Given the description of an element on the screen output the (x, y) to click on. 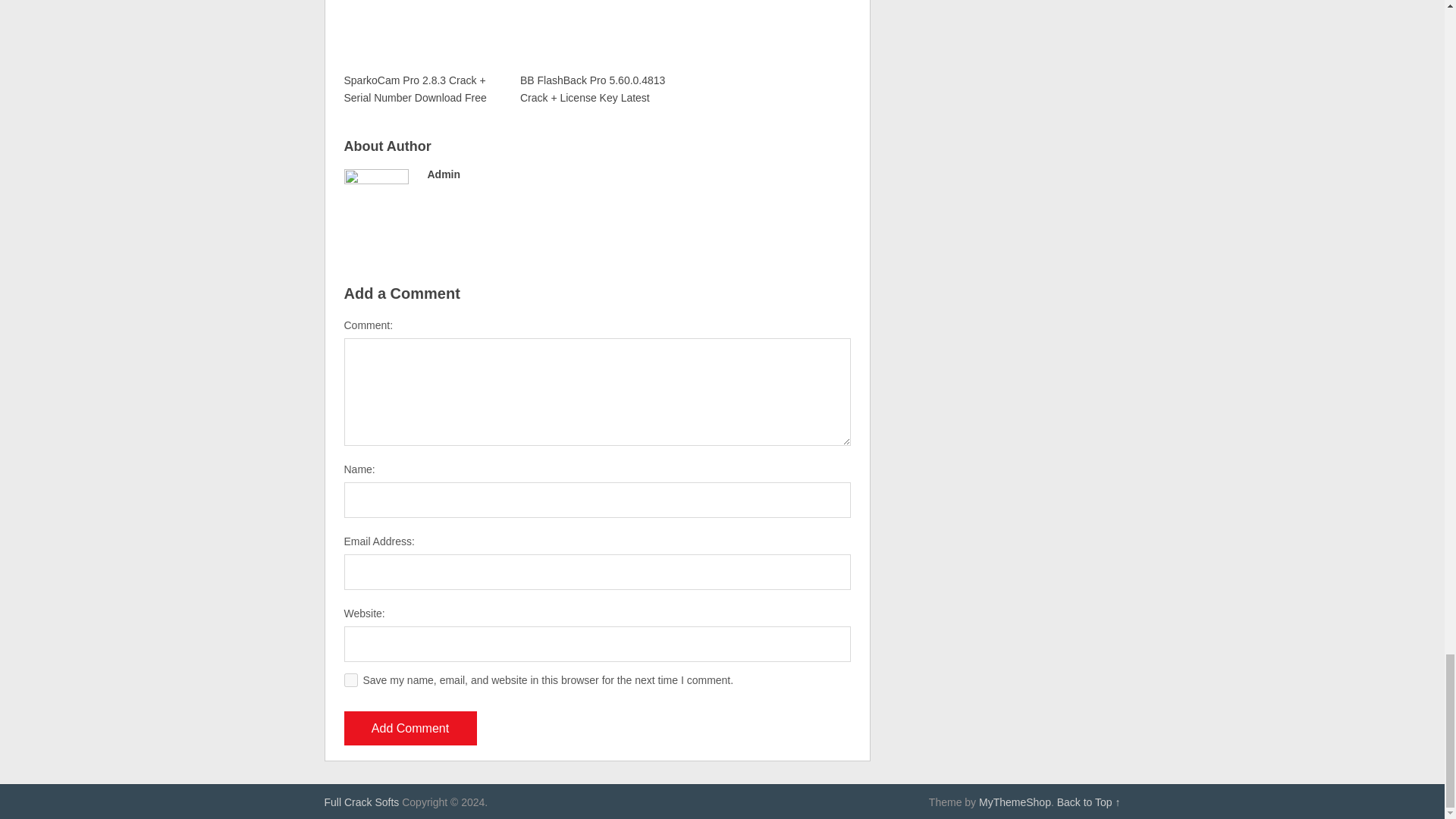
yes (350, 680)
Add Comment (410, 728)
Add Comment (410, 728)
